Given the description of an element on the screen output the (x, y) to click on. 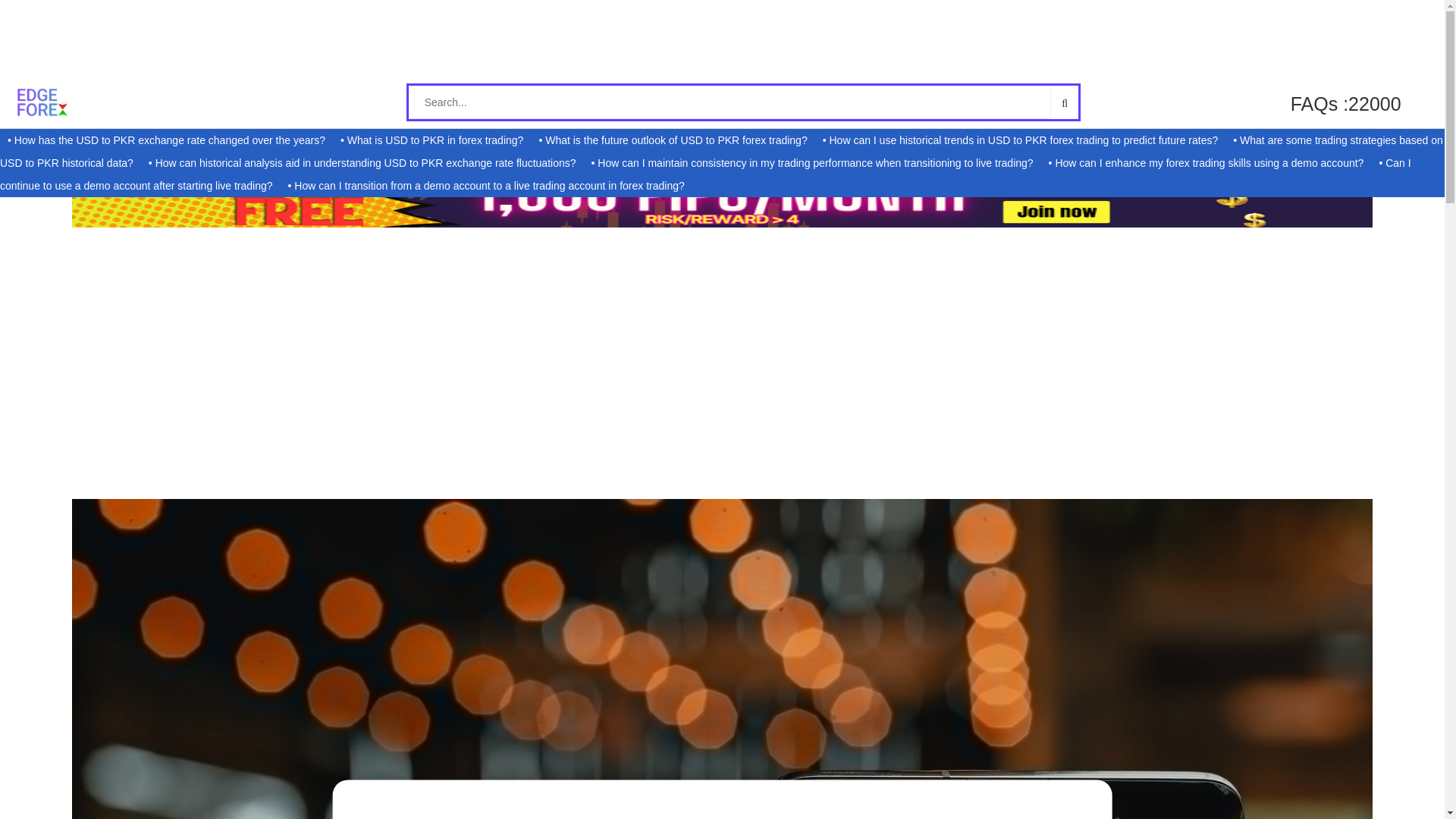
What is USD to PKR in forex trading? (431, 140)
How has the USD to PKR exchange rate changed over the years? (165, 140)
What is the future outlook of USD to PKR forex trading? (672, 140)
